Given the description of an element on the screen output the (x, y) to click on. 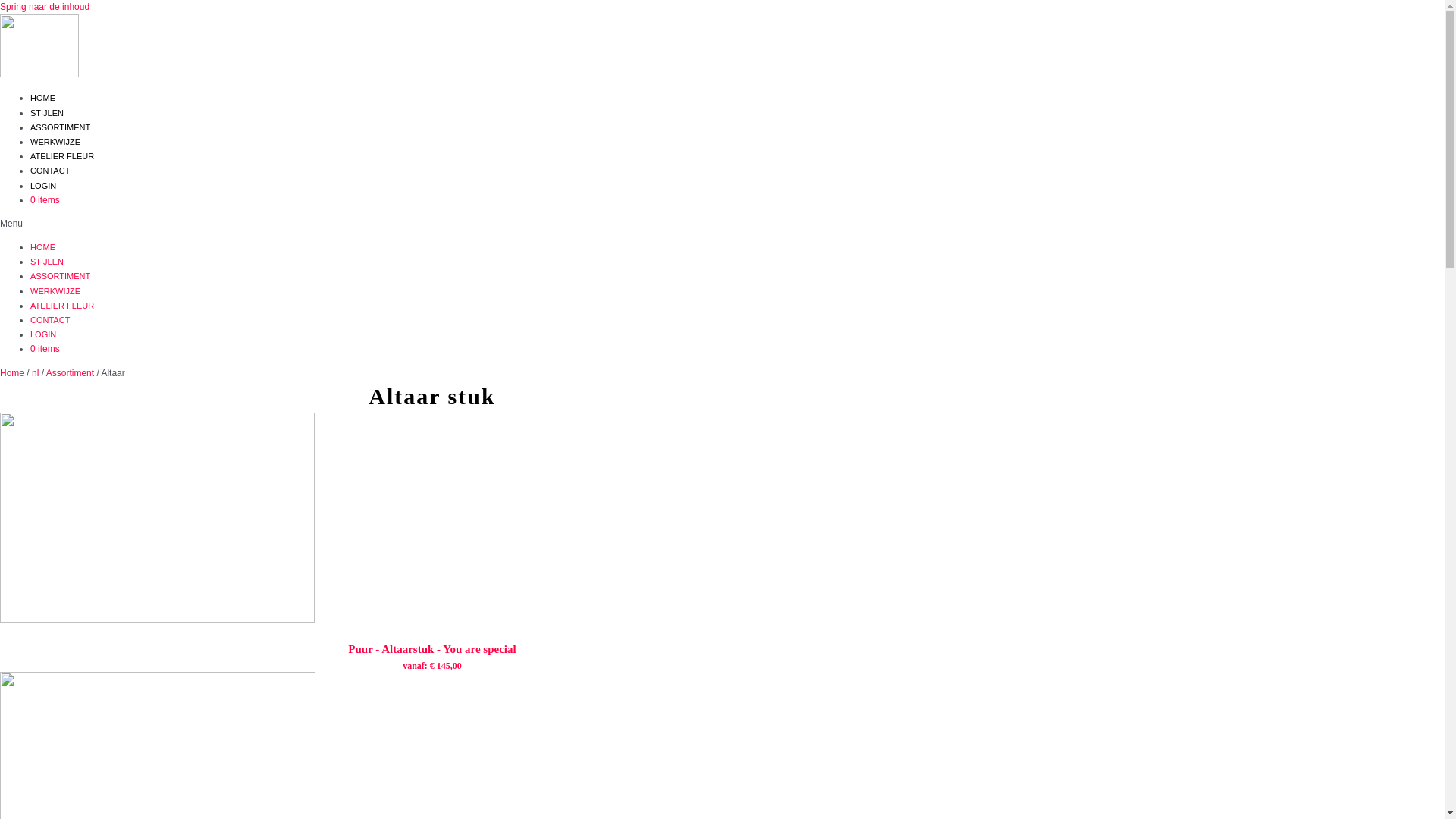
ATELIER FLEUR Element type: text (62, 305)
0 items Element type: text (44, 348)
ATELIER FLEUR Element type: text (62, 155)
LOGIN Element type: text (43, 184)
CONTACT Element type: text (49, 170)
HOME Element type: text (42, 97)
HOME Element type: text (42, 246)
STIJLEN Element type: text (46, 112)
CONTACT Element type: text (49, 319)
LOGIN Element type: text (43, 333)
Puur - Altaarstuk - You are special Element type: text (431, 649)
nl Element type: text (34, 372)
Spring naar de inhoud Element type: text (44, 6)
STIJLEN Element type: text (46, 261)
Assortiment Element type: text (70, 372)
WERKWIJZE Element type: text (55, 290)
ASSORTIMENT Element type: text (60, 275)
ASSORTIMENT Element type: text (60, 126)
0 items Element type: text (44, 199)
WERKWIJZE Element type: text (55, 141)
Home Element type: text (12, 372)
